Given the description of an element on the screen output the (x, y) to click on. 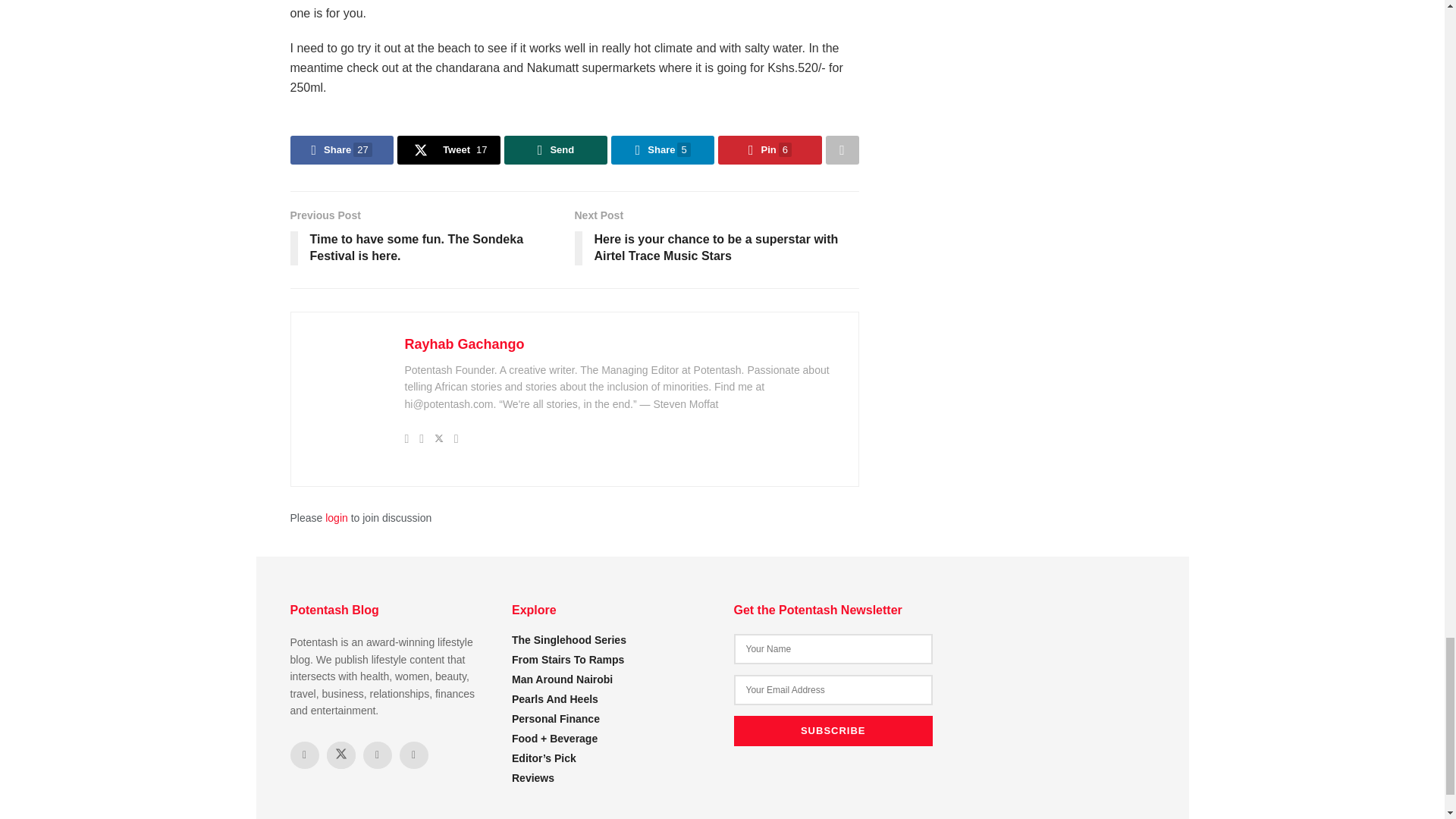
Subscribe (833, 730)
